Given the description of an element on the screen output the (x, y) to click on. 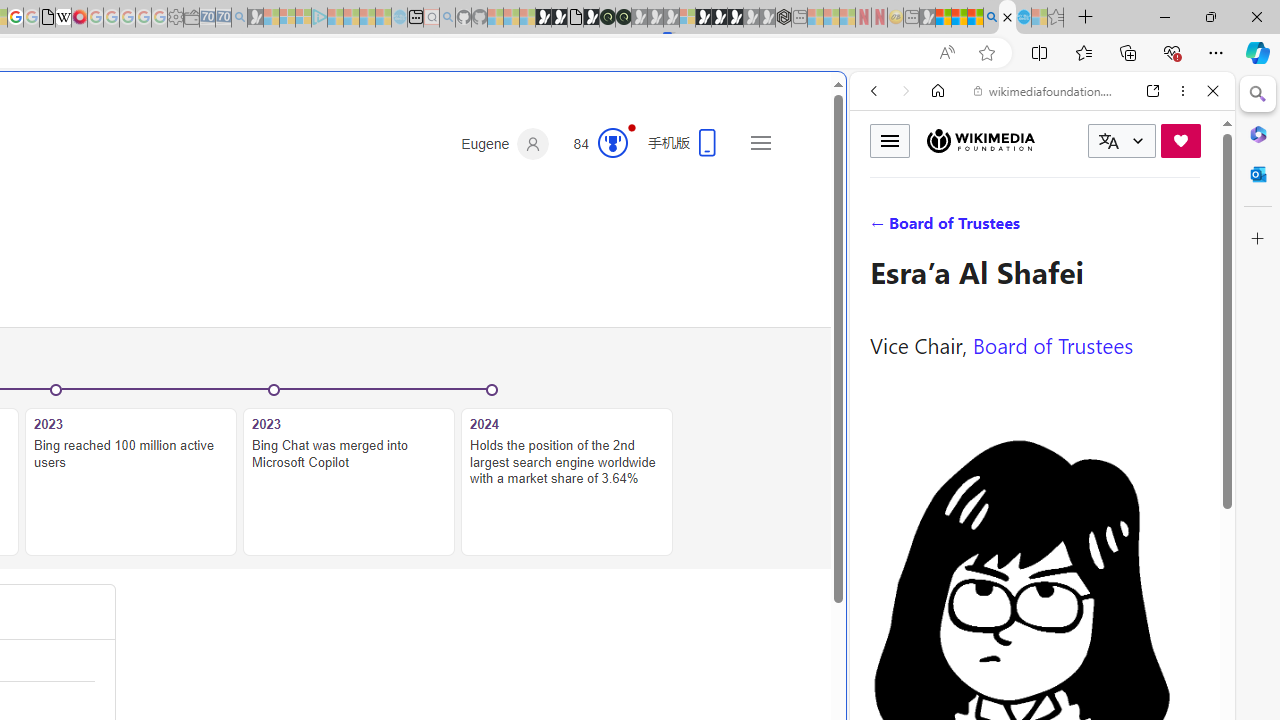
Future Focus Report 2024 (623, 17)
Settings - Sleeping (175, 17)
Board of Trustees (1053, 344)
Close Customize pane (1258, 239)
Wikimedia Foundation (980, 141)
Bing Real Estate - Home sales and rental listings - Sleeping (239, 17)
Class: b_serphb (1190, 229)
